Given the description of an element on the screen output the (x, y) to click on. 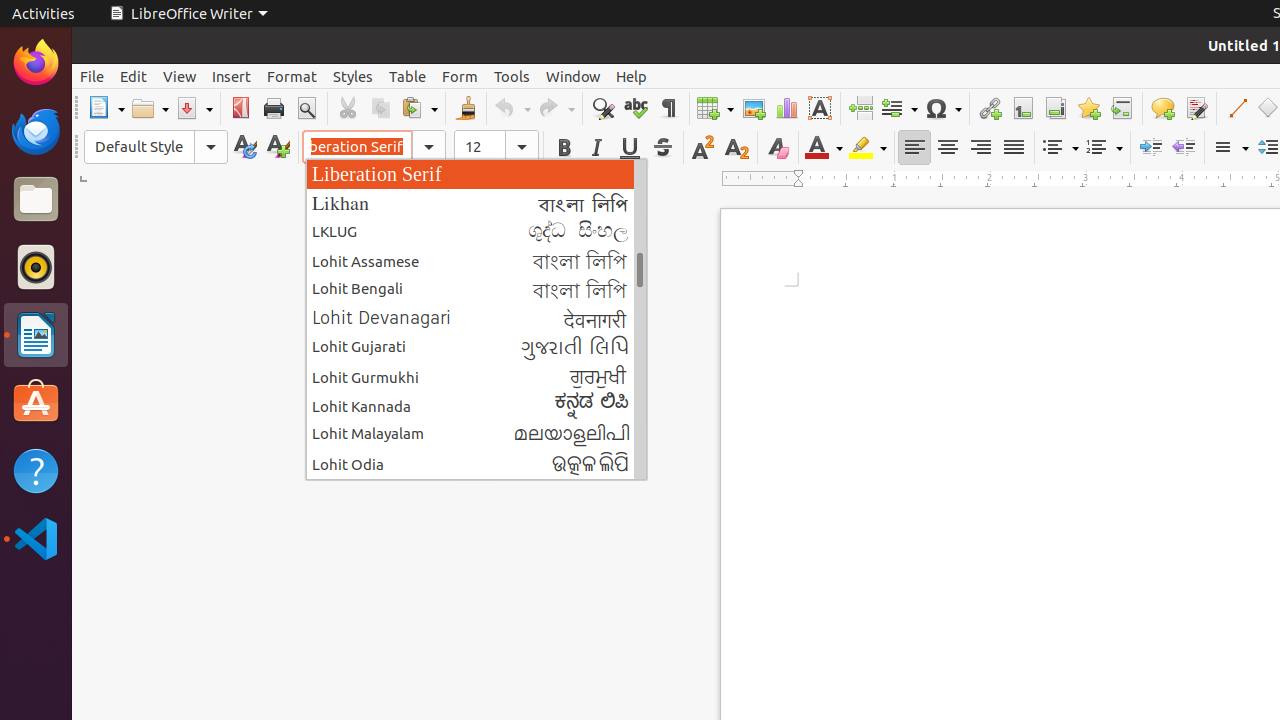
Ubuntu Software Element type: push-button (36, 402)
Update Element type: push-button (244, 147)
Spelling Element type: push-button (635, 108)
Formatting Marks Element type: toggle-button (668, 108)
Thunderbird Mail Element type: push-button (36, 131)
